Given the description of an element on the screen output the (x, y) to click on. 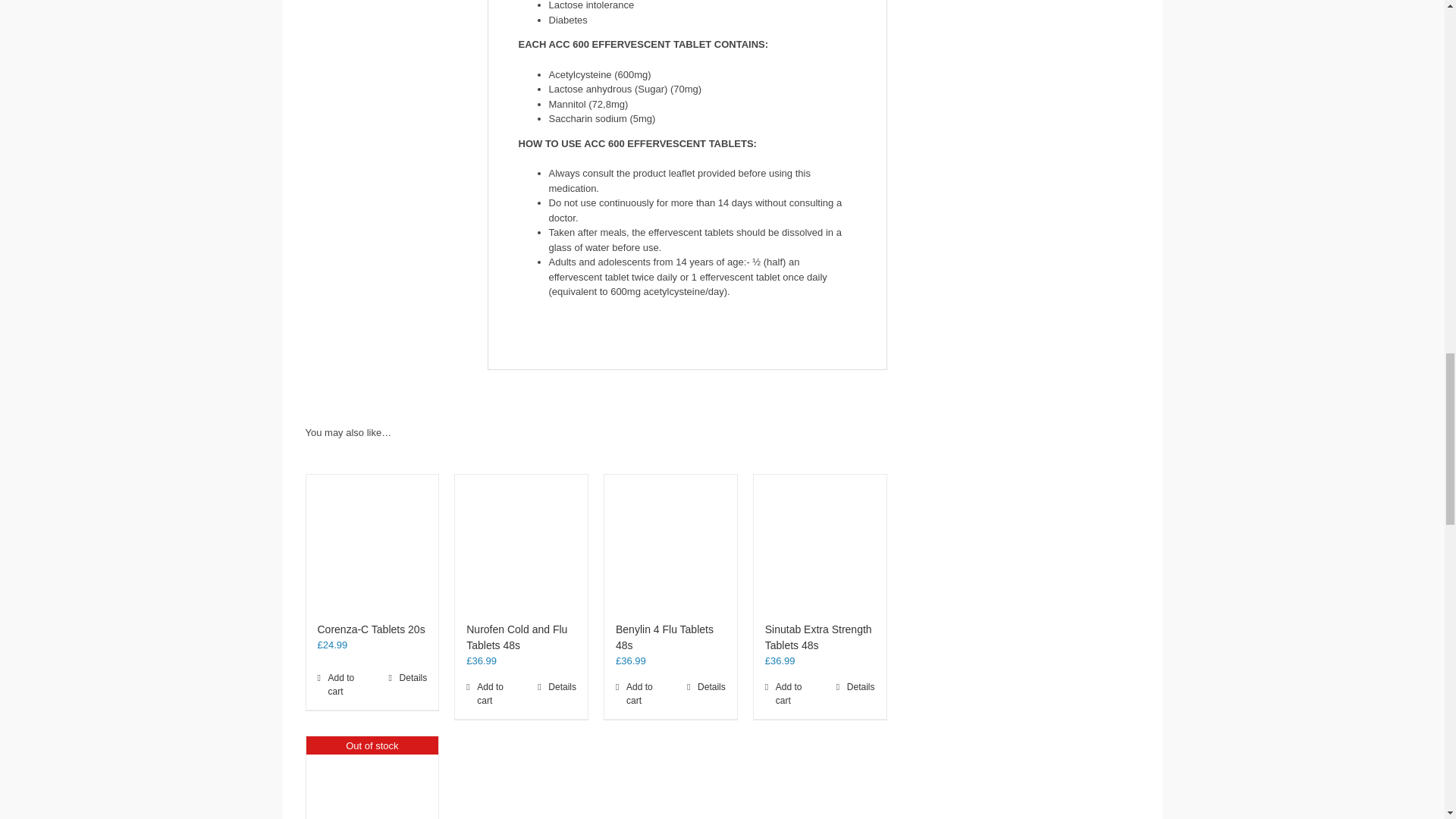
Original price:36.99 (630, 660)
Original price:24.99 (332, 644)
Original price:36.99 (779, 660)
Original price:36.99 (480, 660)
